Given the description of an element on the screen output the (x, y) to click on. 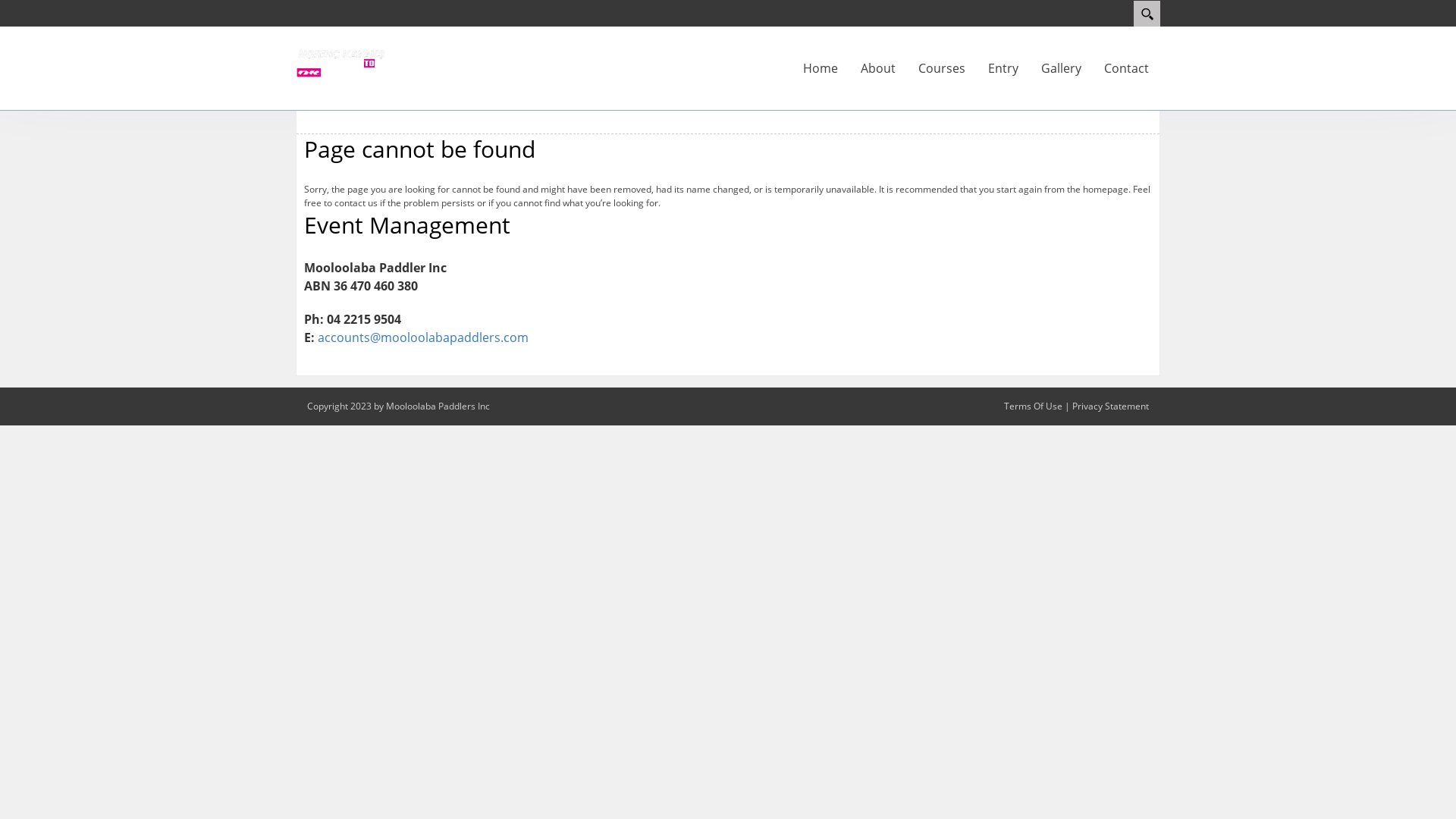
accounts@mooloolabapaddlers.com Element type: text (422, 337)
About Element type: text (877, 68)
Contact Element type: text (1126, 68)
Home Element type: text (820, 68)
Search Element type: text (1146, 13)
Oceanpaddle Element type: hover (340, 62)
Entry Element type: text (1002, 68)
Terms Of Use Element type: text (1033, 405)
Privacy Statement Element type: text (1110, 405)
Courses Element type: text (941, 68)
Gallery Element type: text (1060, 68)
